Given the description of an element on the screen output the (x, y) to click on. 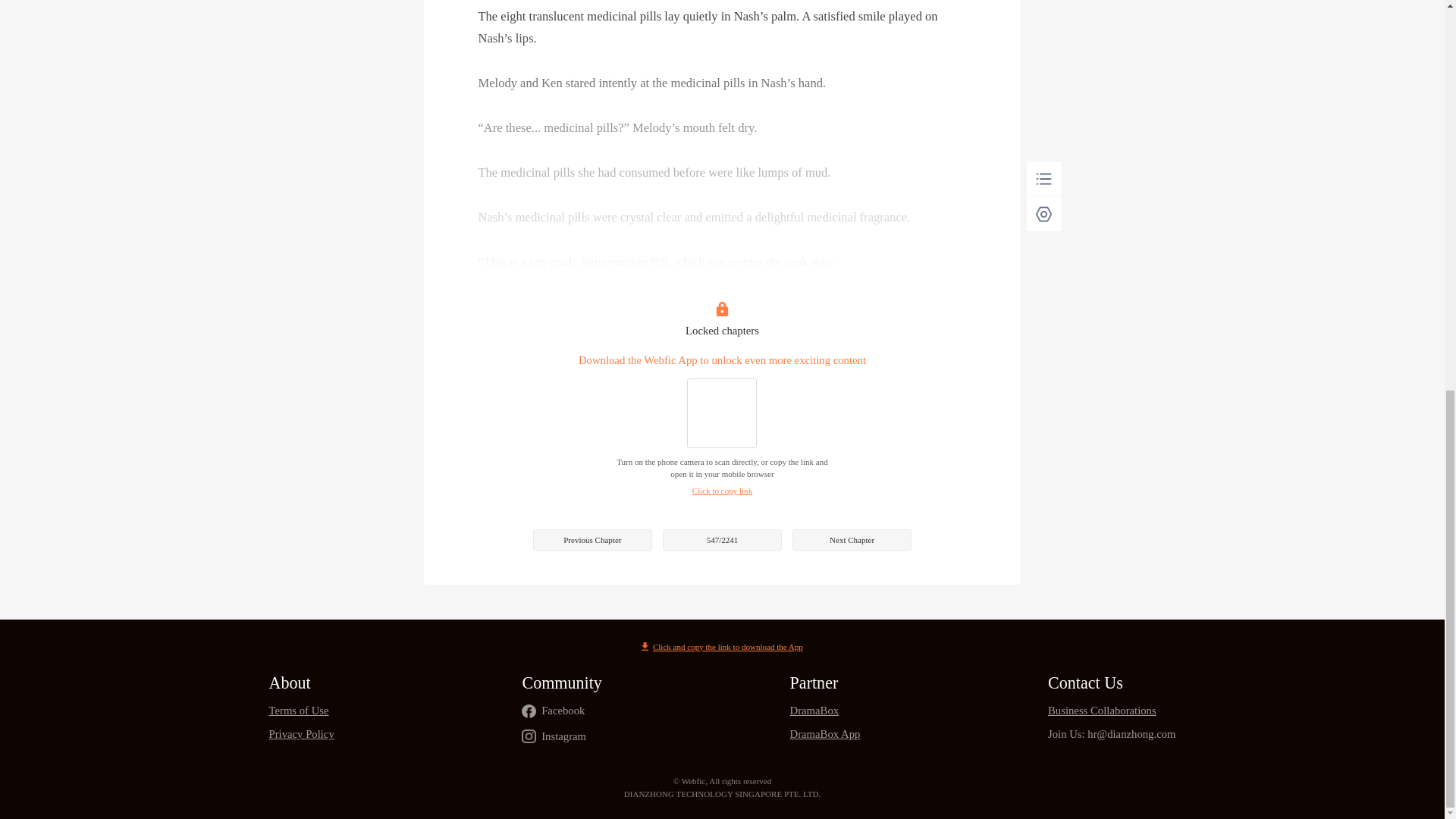
Business Collaborations (1112, 710)
Next Chapter (851, 540)
Terms of Use (300, 710)
DramaBox App (825, 734)
Previous Chapter (591, 540)
Privacy Policy (300, 734)
Instagram (563, 735)
Facebook (563, 710)
DramaBox (825, 710)
